Given the description of an element on the screen output the (x, y) to click on. 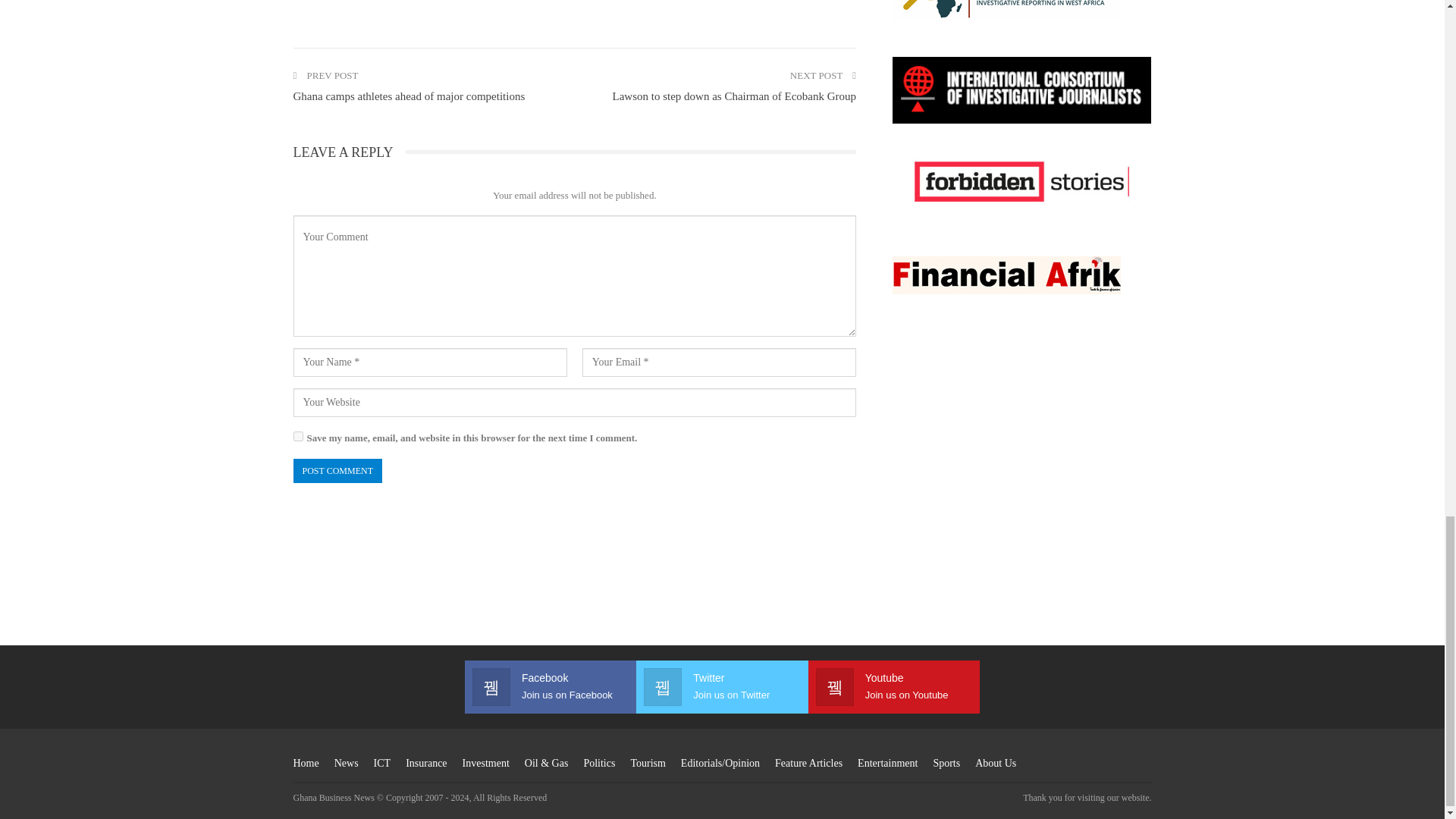
yes (297, 436)
Lawson to step down as Chairman of Ecobank Group (733, 96)
Ghana camps athletes ahead of major competitions (408, 96)
Post Comment (336, 470)
